Given the description of an element on the screen output the (x, y) to click on. 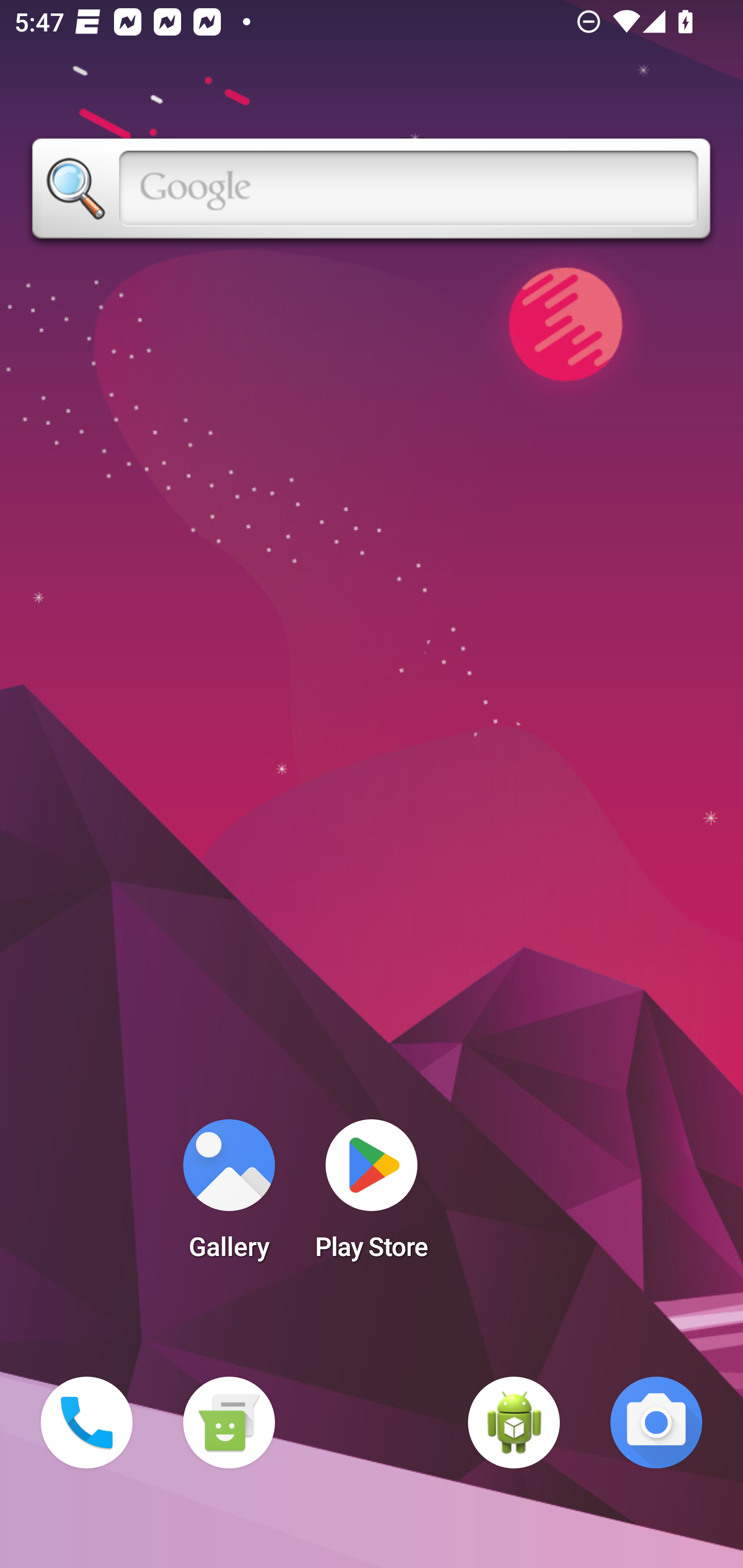
Gallery (228, 1195)
Play Store (371, 1195)
Phone (86, 1422)
Messaging (228, 1422)
WebView Browser Tester (513, 1422)
Camera (656, 1422)
